Given the description of an element on the screen output the (x, y) to click on. 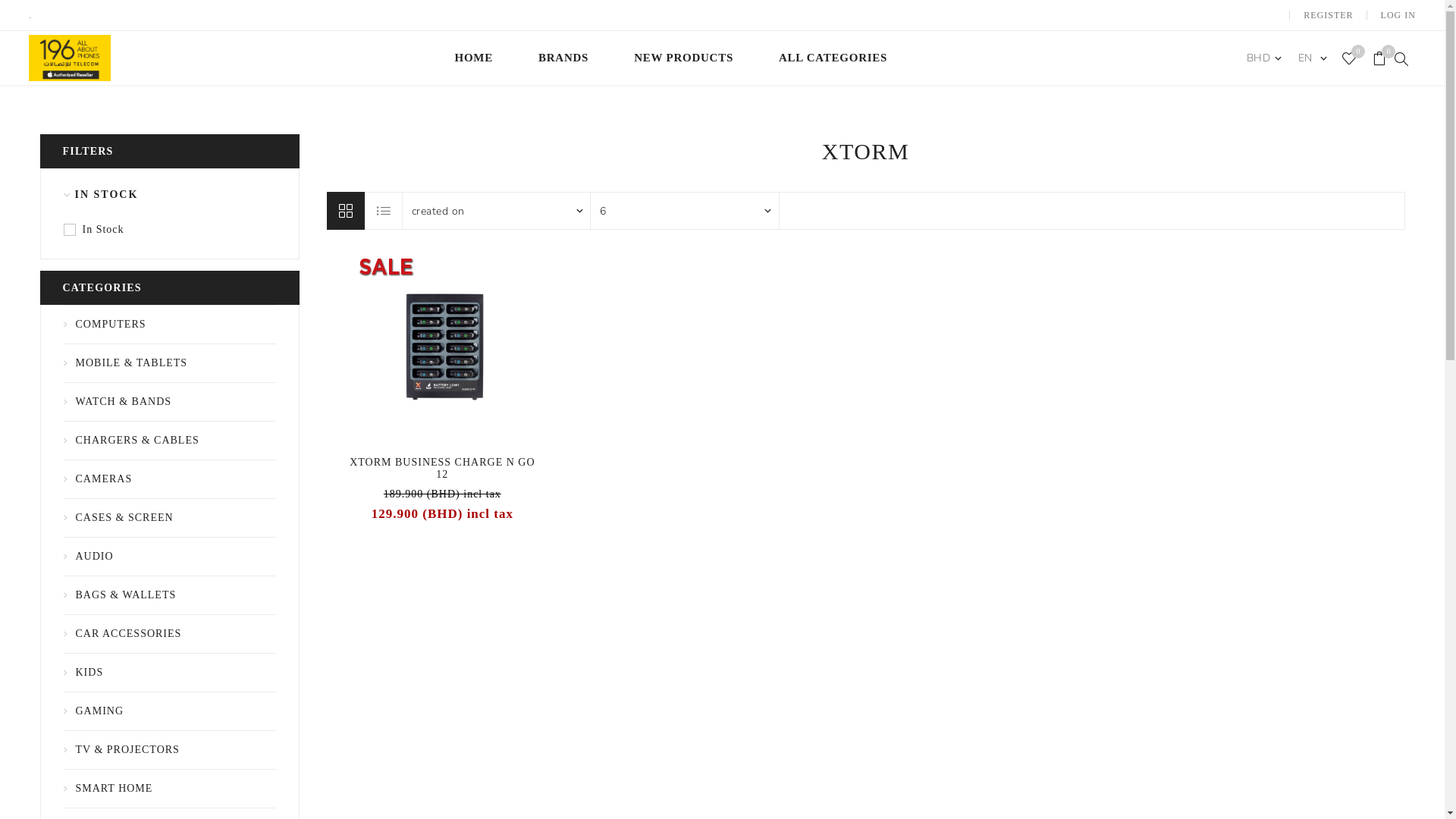
0 Element type: text (1380, 58)
NEW PRODUCTS Element type: text (683, 57)
TV & PROJECTORS Element type: text (169, 749)
KIDS Element type: text (169, 672)
BRANDS Element type: text (563, 57)
COMPUTERS Element type: text (169, 324)
LOG IN Element type: text (1397, 15)
GAMING Element type: text (169, 711)
CAR ACCESSORIES Element type: text (169, 633)
Add to wishlist Element type: text (457, 347)
Grid Element type: text (345, 210)
HOME Element type: text (474, 57)
Show details for XTORM BUSINESS CHARGE N GO 12 Element type: hover (442, 346)
CHARGERS & CABLES Element type: text (169, 440)
MOBILE & TABLETS Element type: text (169, 363)
Add to cart Element type: text (488, 347)
Search Element type: hover (1400, 58)
BAGS & WALLETS Element type: text (169, 595)
CASES & SCREEN Element type: text (169, 517)
REGISTER Element type: text (1327, 15)
XTORM BUSINESS CHARGE N GO 12 Element type: text (442, 468)
CAMERAS Element type: text (169, 479)
0 Element type: text (1349, 58)
SMART HOME Element type: text (169, 788)
WATCH & BANDS Element type: text (169, 401)
IN STOCK Element type: text (165, 194)
List Element type: text (384, 210)
AUDIO Element type: text (169, 556)
Add to compare Element type: text (426, 347)
